Given the description of an element on the screen output the (x, y) to click on. 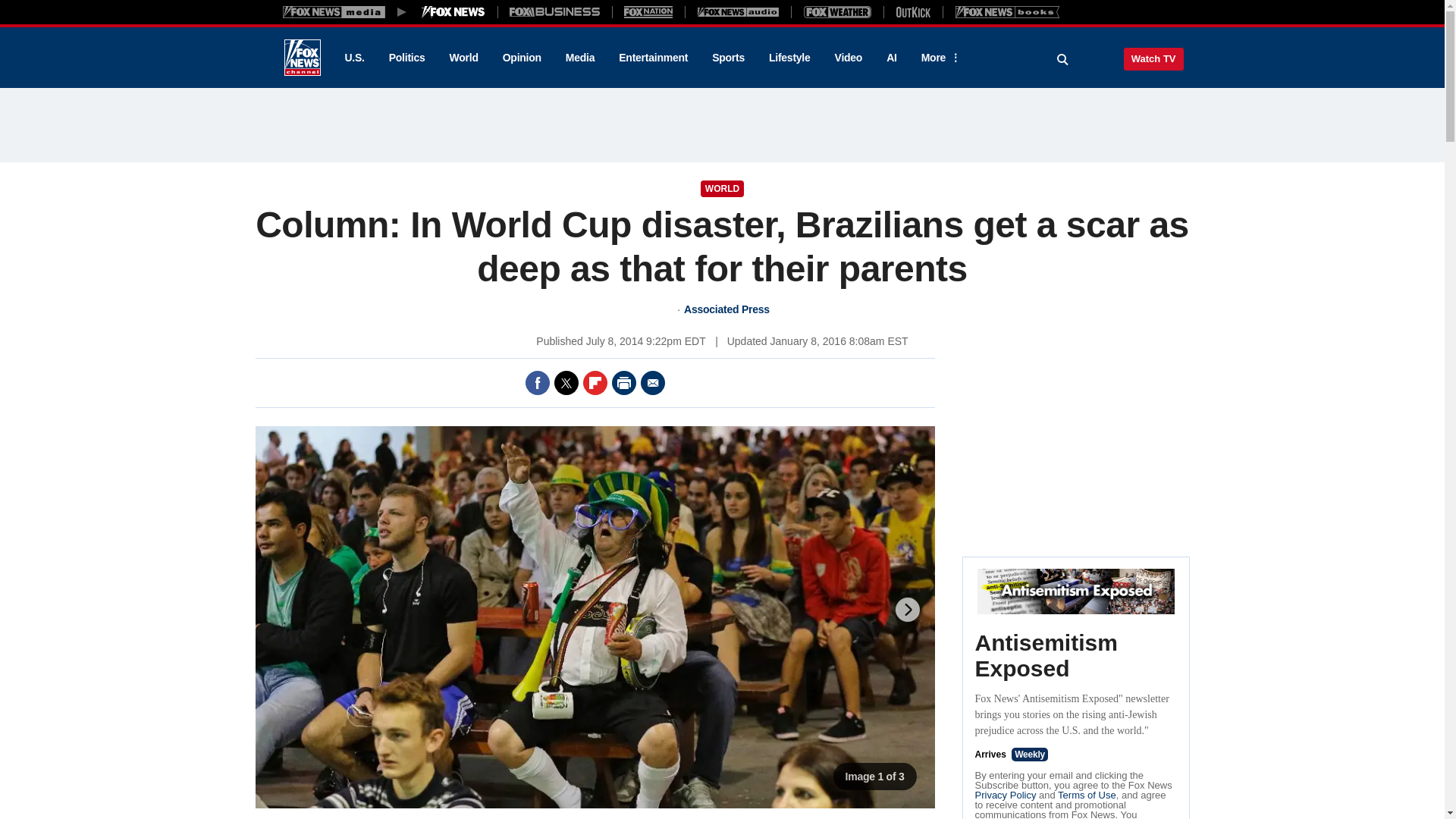
Watch TV (1153, 58)
U.S. (353, 57)
Lifestyle (789, 57)
Video (848, 57)
Fox Weather (836, 11)
AI (891, 57)
Fox News Audio (737, 11)
Sports (728, 57)
Media (580, 57)
Politics (407, 57)
